Given the description of an element on the screen output the (x, y) to click on. 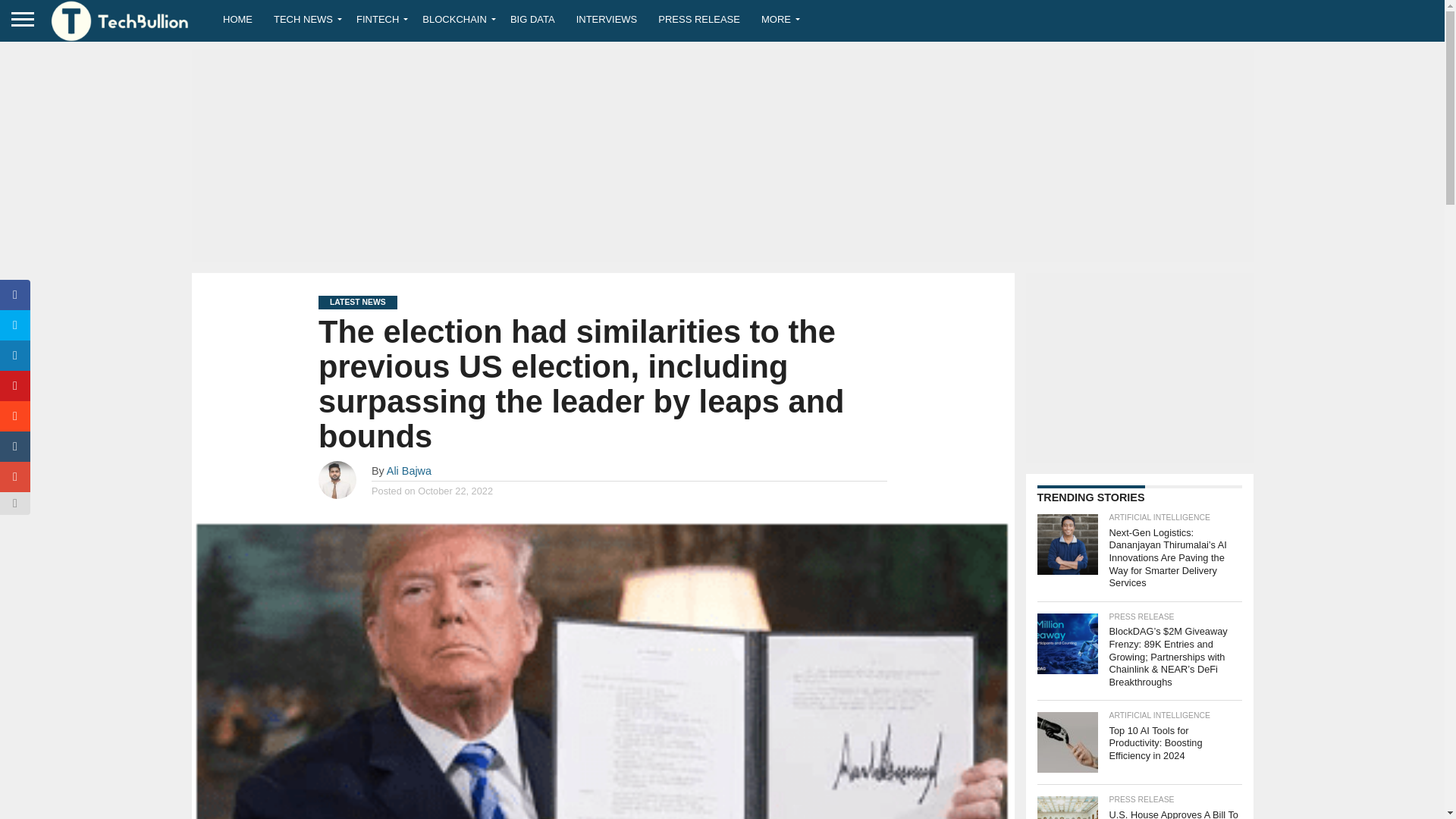
Posts by Ali Bajwa (408, 470)
